Given the description of an element on the screen output the (x, y) to click on. 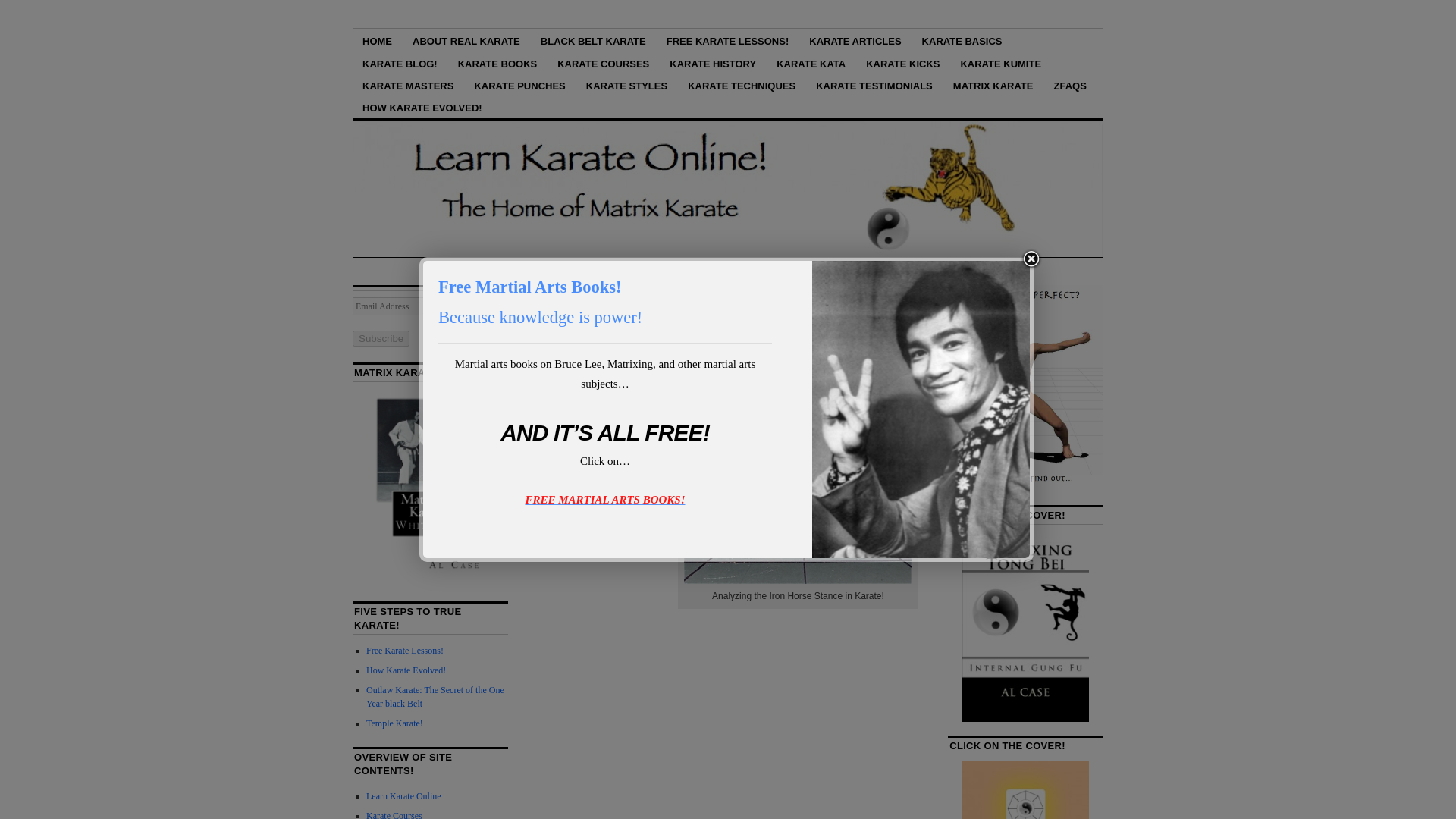
KARATE ARTICLES (855, 40)
KARATE HISTORY (712, 62)
KARATE BOOKS (497, 62)
KARATE COURSES (603, 62)
KARATE BLOG! (399, 62)
KARATE BASICS (961, 40)
DSCN0967 (797, 483)
FREE KARATE LESSONS! (727, 40)
ABOUT REAL KARATE (466, 40)
10:03 am (609, 355)
HOME (376, 40)
Permalink to How to Train in the Iron Horse Form in Karate (702, 334)
View all posts by freema6 (667, 355)
BLACK BELT KARATE (593, 40)
